Given the description of an element on the screen output the (x, y) to click on. 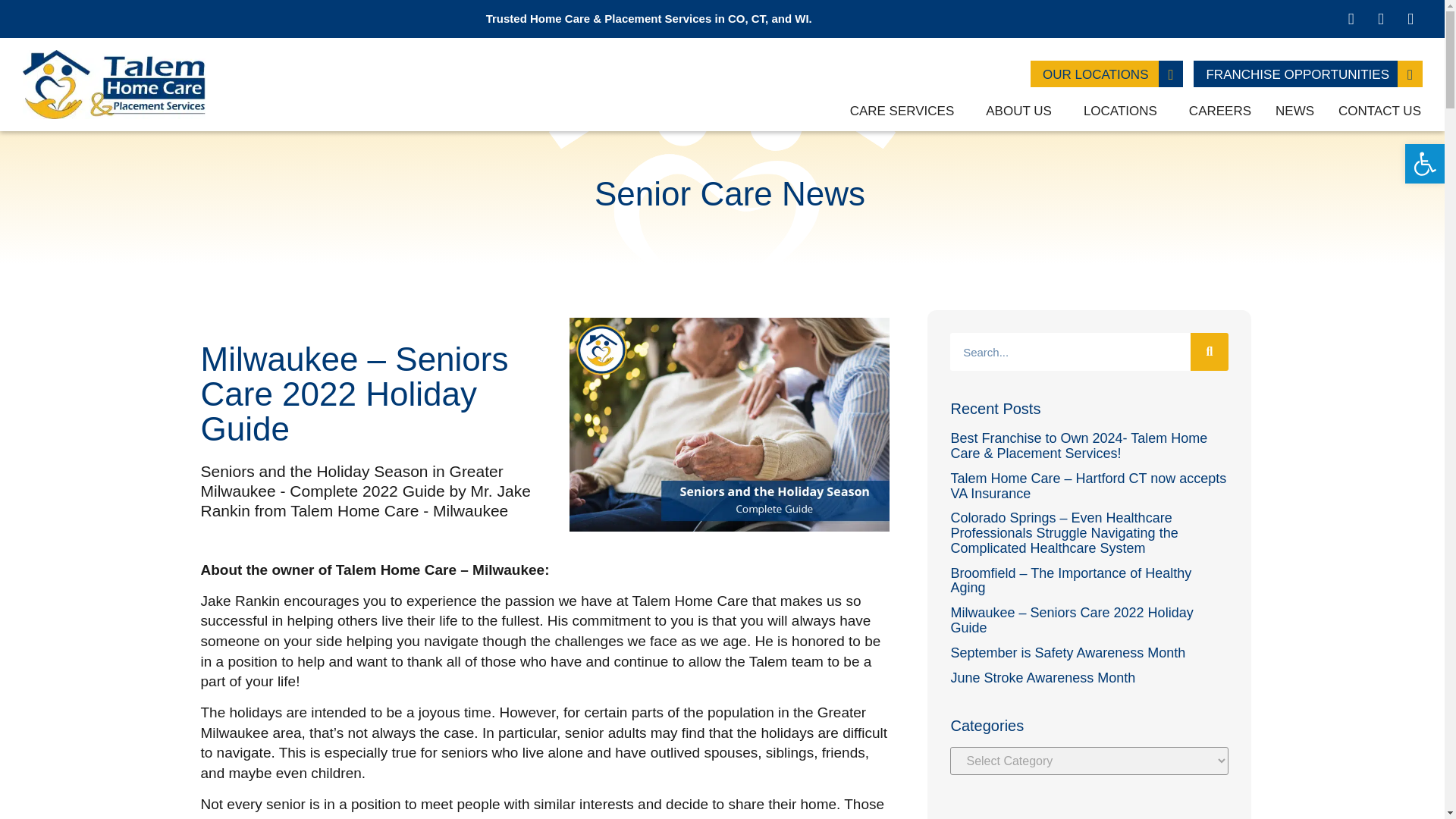
Accessibility Tools (1424, 163)
OUR LOCATIONS (1095, 73)
ABOUT US (1022, 111)
CARE SERVICES (906, 111)
FRANCHISE OPPORTUNITIES (1296, 73)
LOCATIONS (1123, 111)
